Given the description of an element on the screen output the (x, y) to click on. 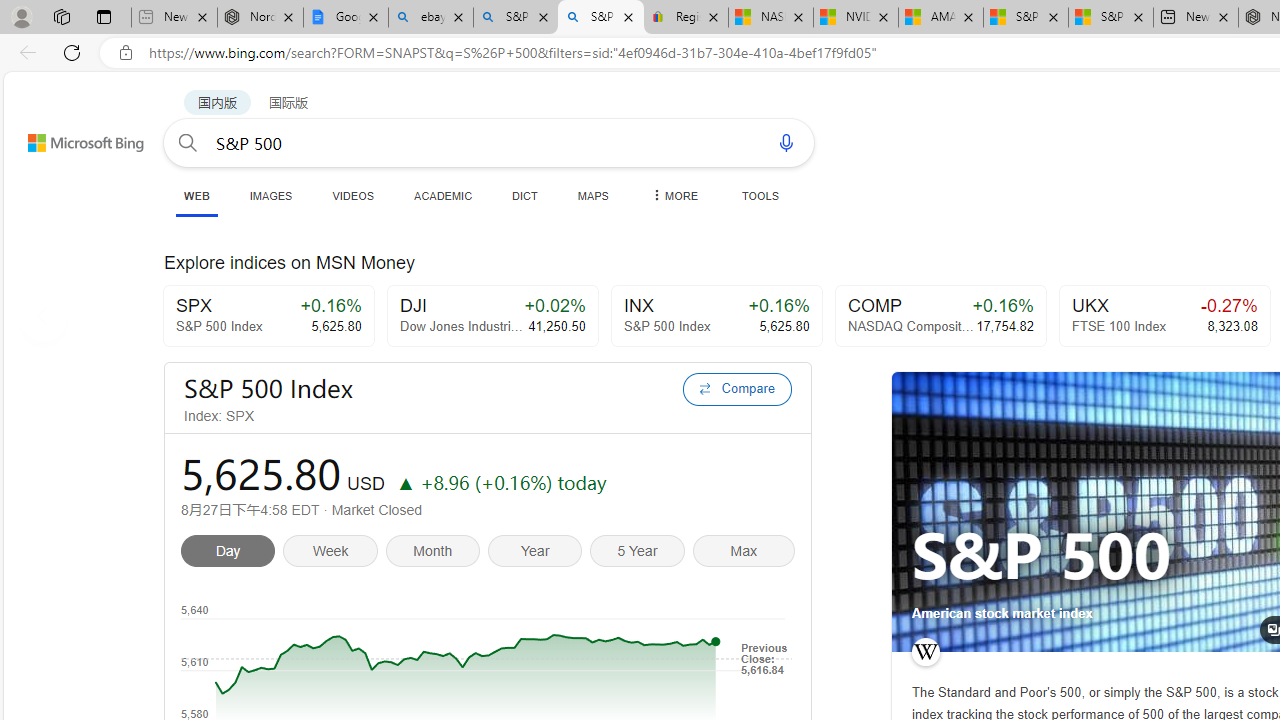
Year (538, 553)
Index: SPX (427, 416)
Skip to content (63, 133)
Price increase (405, 482)
ebay - Search (431, 17)
DICT (525, 195)
MAPS (592, 195)
Back to Bing search (73, 138)
5 Year (641, 553)
S&P 500 Index (427, 388)
DJI +0.02% Dow Jones Industrial Average Index 41,250.50 (492, 315)
